Given the description of an element on the screen output the (x, y) to click on. 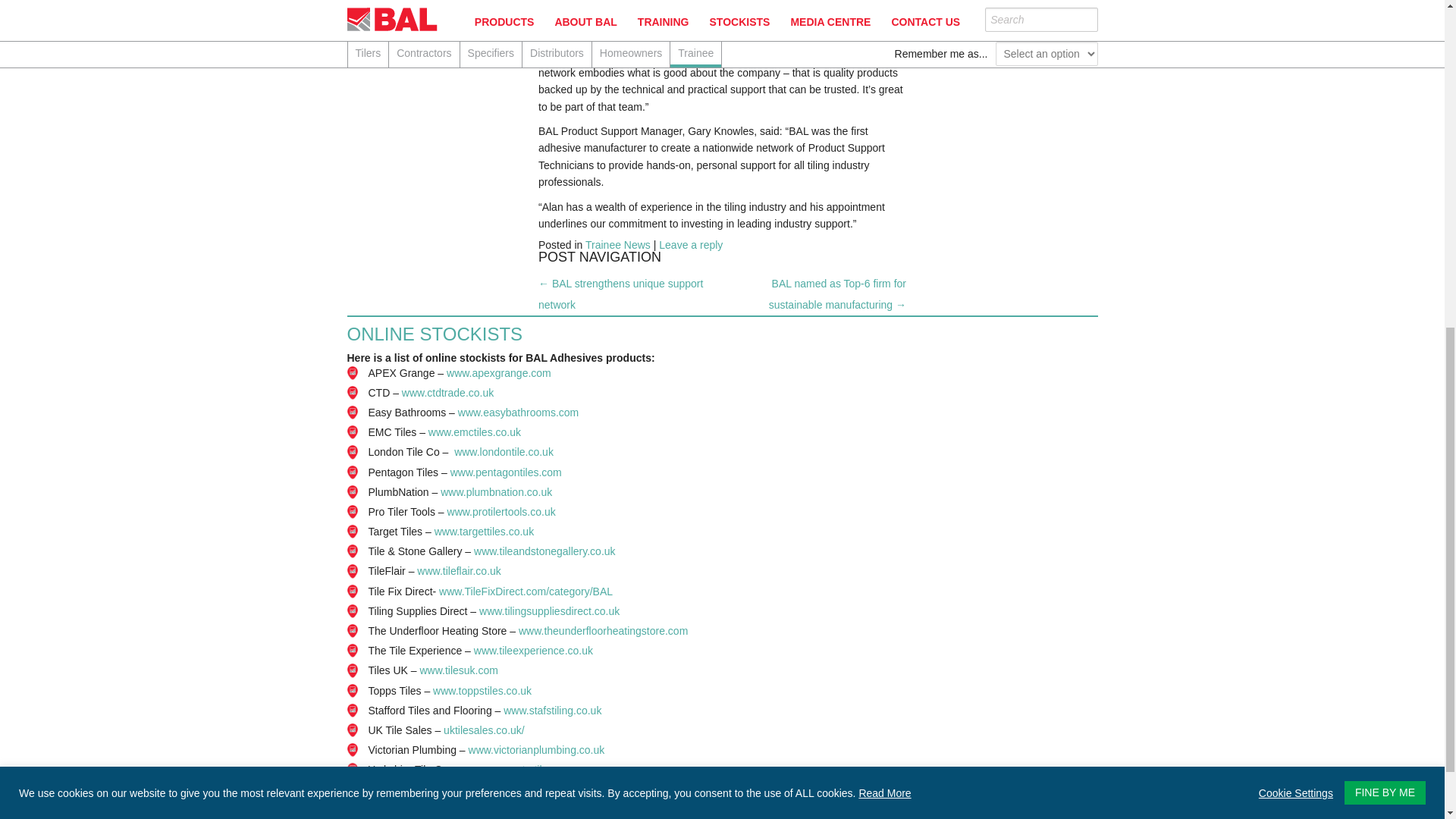
Products Overview (1084, 27)
